Given the description of an element on the screen output the (x, y) to click on. 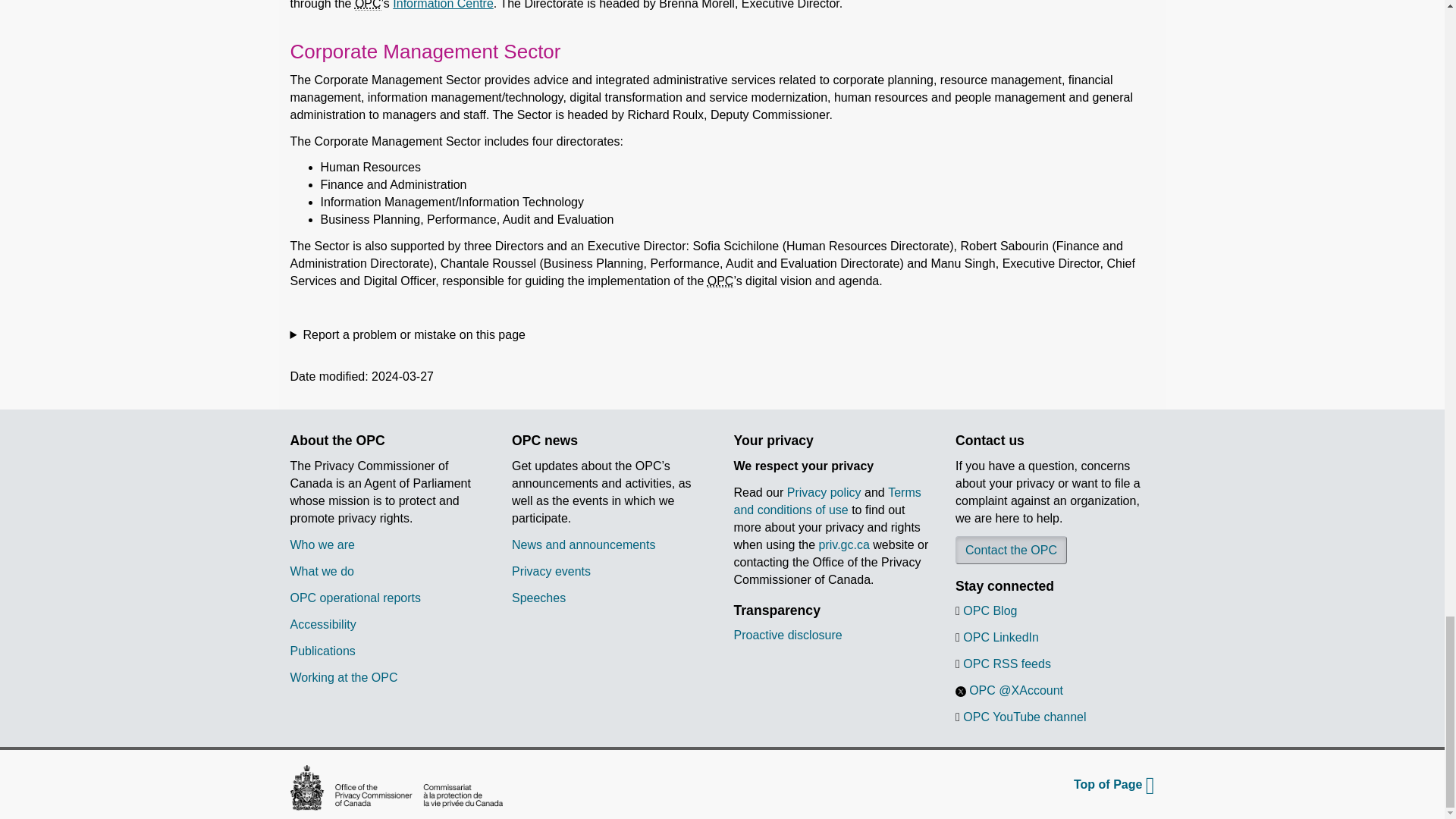
What we do (321, 571)
Terms and conditions of use (827, 501)
News and announcements (583, 543)
OPC Blog (989, 610)
Who we are (321, 543)
Information Centre (443, 4)
Accessibility (322, 624)
Working at the OPC (343, 676)
Proactive disclosure (788, 634)
Privacy events (551, 571)
Publications (322, 649)
OPC operational reports (354, 596)
Speeches (539, 596)
priv.gc.ca (843, 543)
Privacy policy (824, 492)
